Given the description of an element on the screen output the (x, y) to click on. 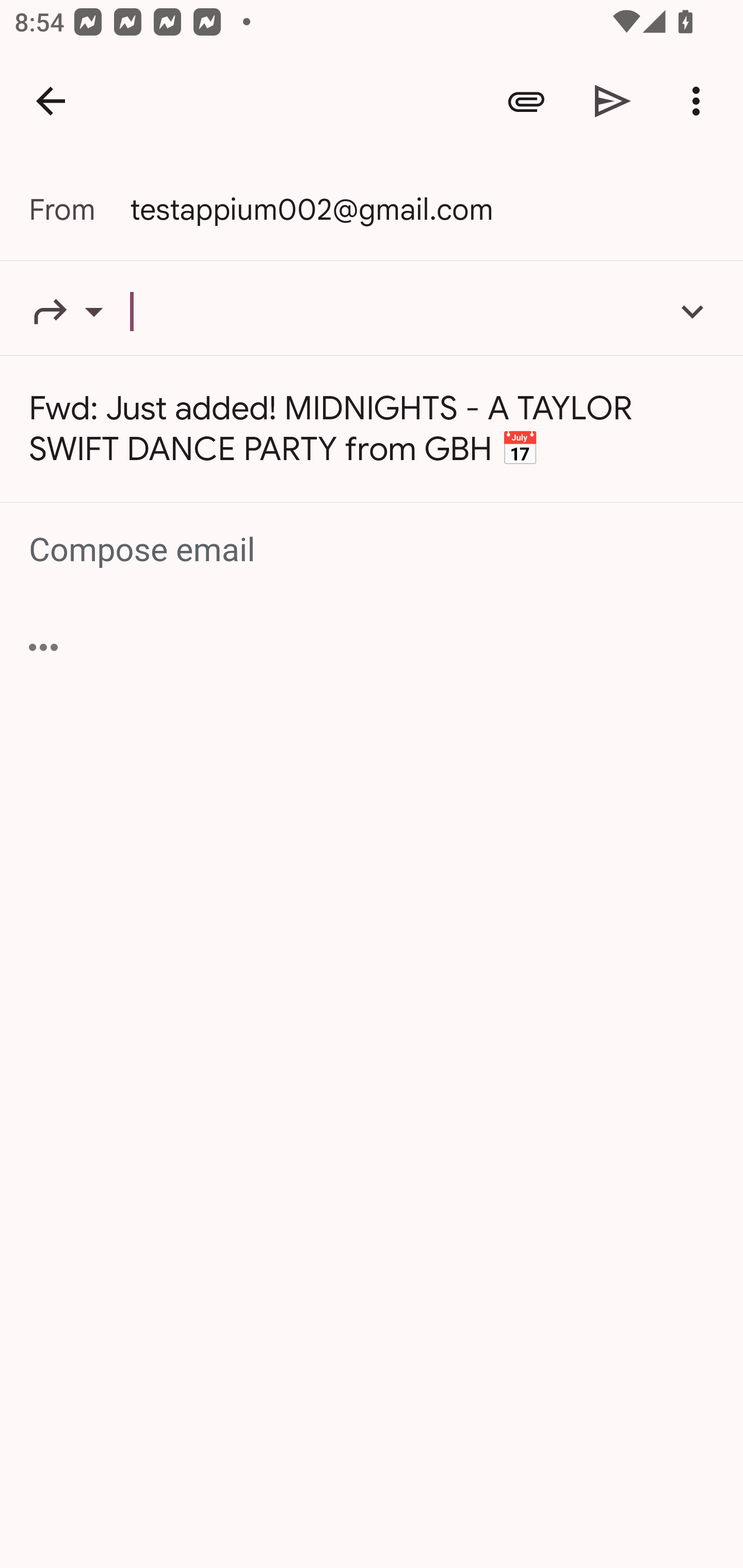
Navigate up (50, 101)
Attach file (525, 101)
Send (612, 101)
More options (699, 101)
From (79, 209)
Forward (79, 311)
Add Cc/Bcc (692, 311)
Compose email (372, 550)
Include quoted text (43, 646)
